Given the description of an element on the screen output the (x, y) to click on. 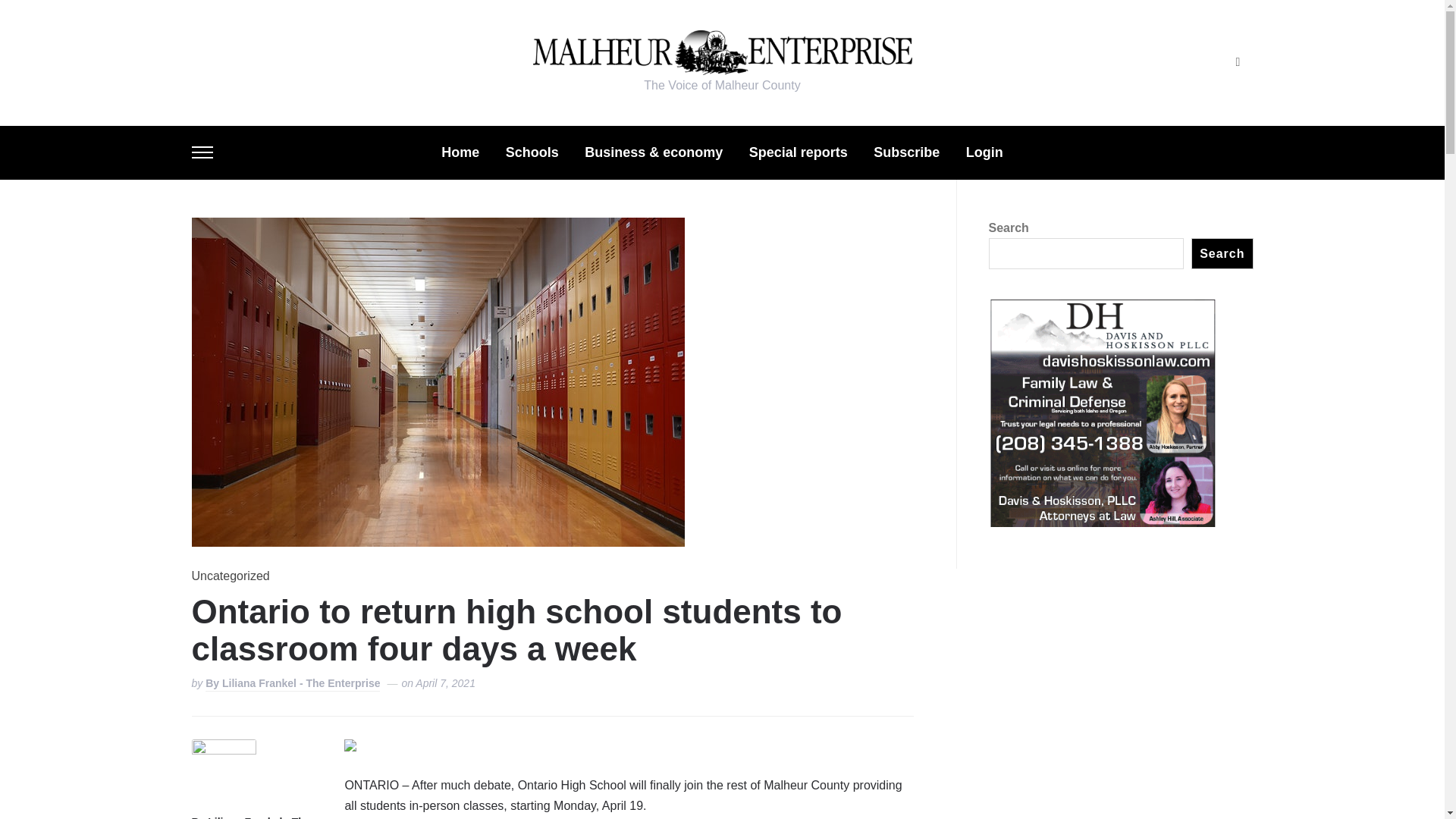
Subscribe (906, 152)
Search (1237, 62)
Special reports (798, 152)
Posts by By Liliana Frankel - The Enterprise (255, 816)
By Liliana Frankel - The Enterprise (292, 684)
Login (984, 152)
By Liliana Frankel - The Enterprise (255, 816)
Home (460, 152)
Posts by By Liliana Frankel - The Enterprise (292, 684)
Schools (532, 152)
